Given the description of an element on the screen output the (x, y) to click on. 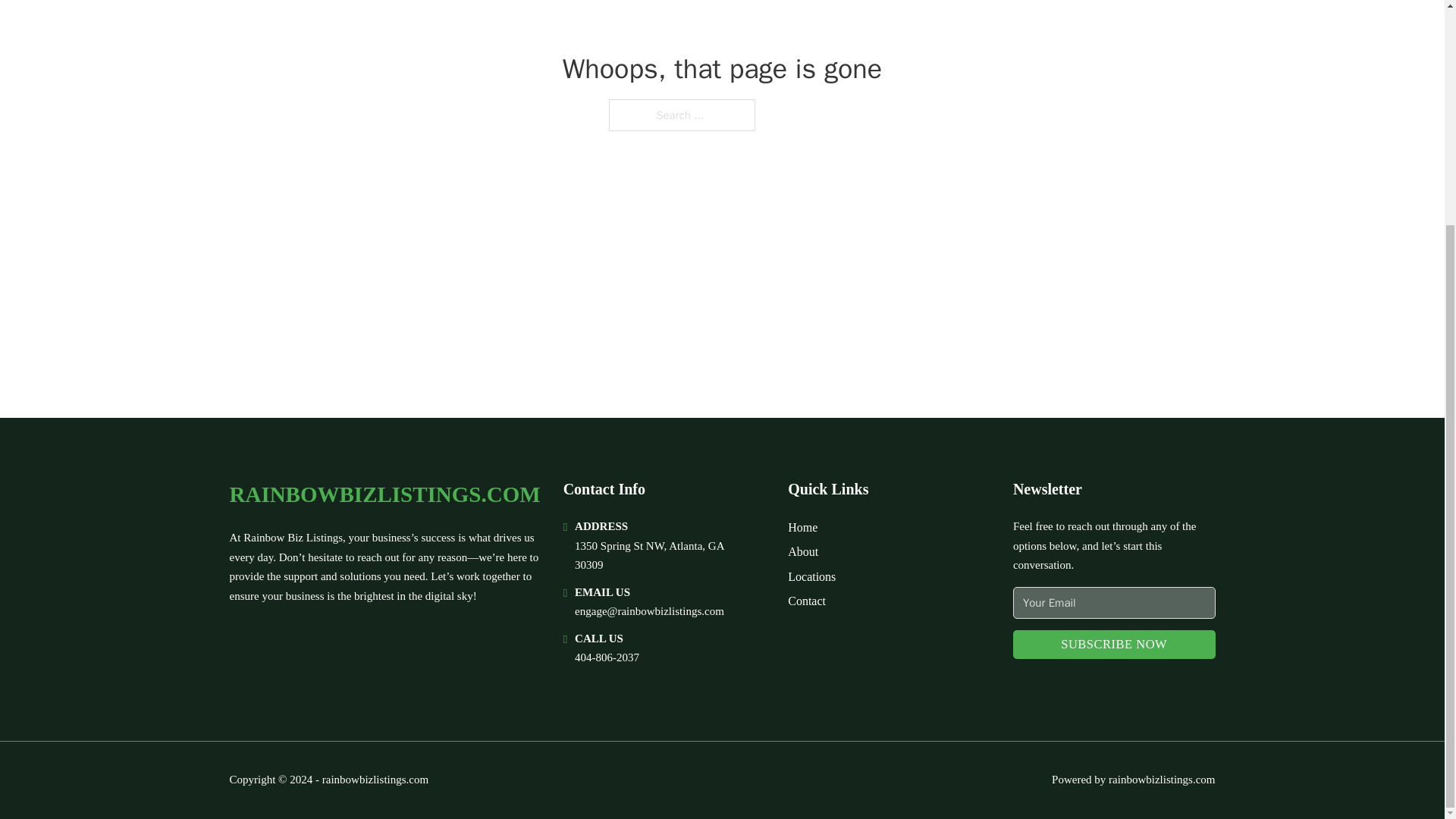
404-806-2037 (607, 657)
Contact (806, 600)
RAINBOWBIZLISTINGS.COM (384, 494)
SUBSCRIBE NOW (1114, 644)
Locations (811, 576)
About (802, 551)
Home (801, 526)
